Given the description of an element on the screen output the (x, y) to click on. 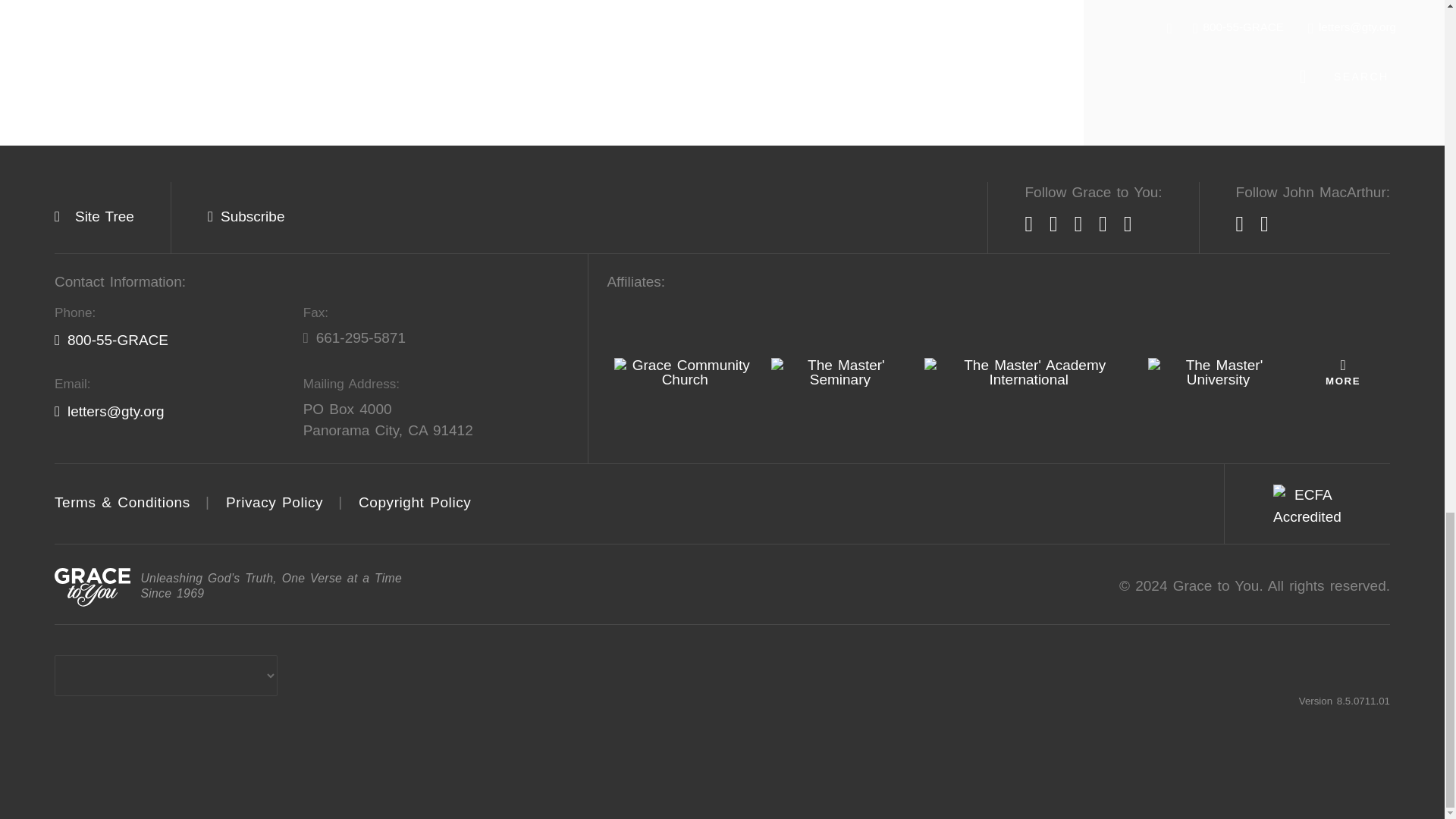
The Master' Academy International (1028, 371)
The Master' University (1218, 371)
Grace-to-You (93, 587)
Grace Community Church (684, 371)
More Affiliates (1341, 371)
The Master' Seminary (839, 371)
